Given the description of an element on the screen output the (x, y) to click on. 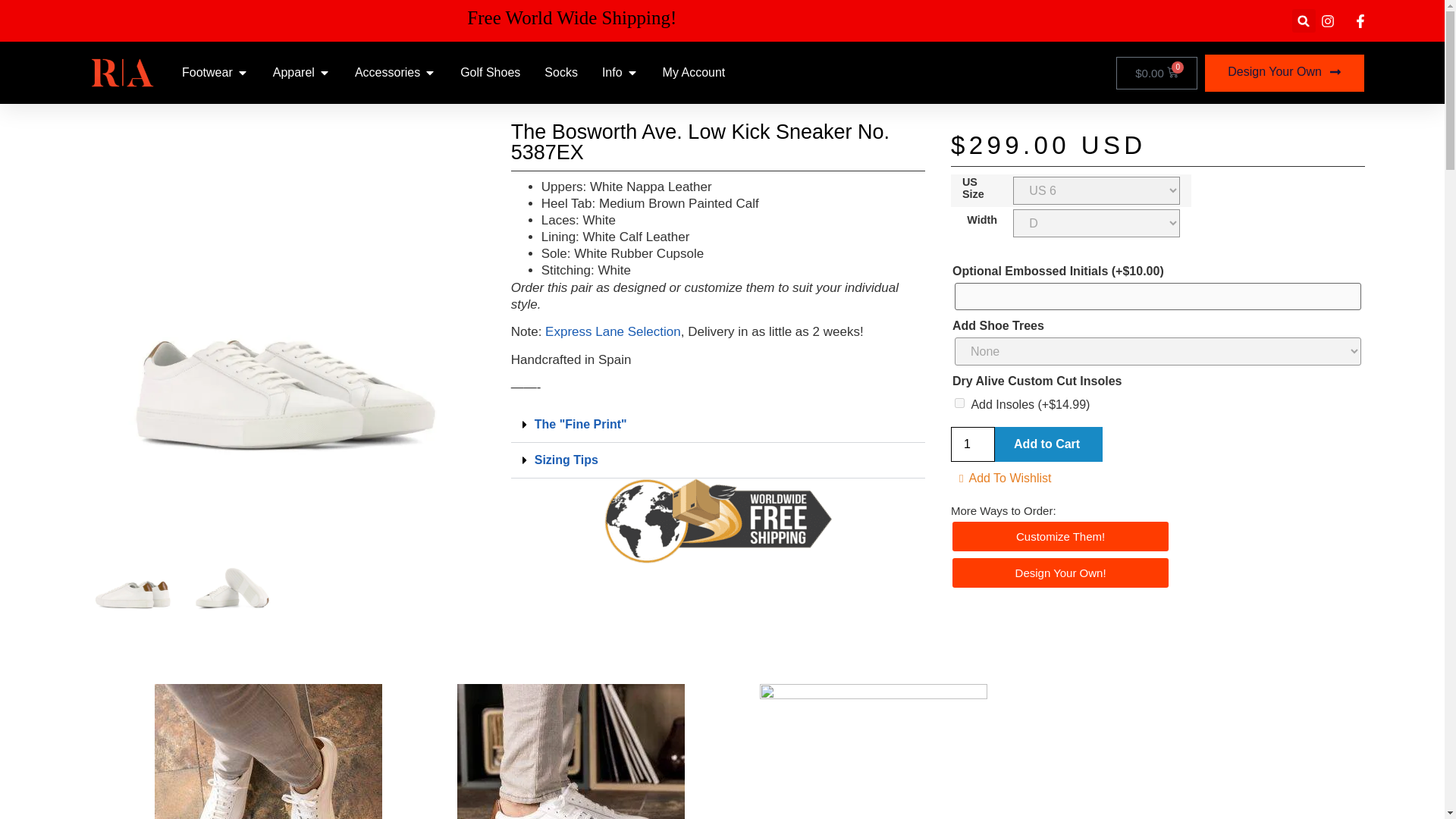
Golf Shoes (489, 72)
The Bosworth Ave. Low Kick Sneaker No. 5387EX (132, 578)
The Bosworth Ave. Low Kick Sneaker No. 5387EX (232, 578)
Info (612, 72)
1 (972, 443)
Socks (561, 72)
add-insoles (959, 402)
